Given the description of an element on the screen output the (x, y) to click on. 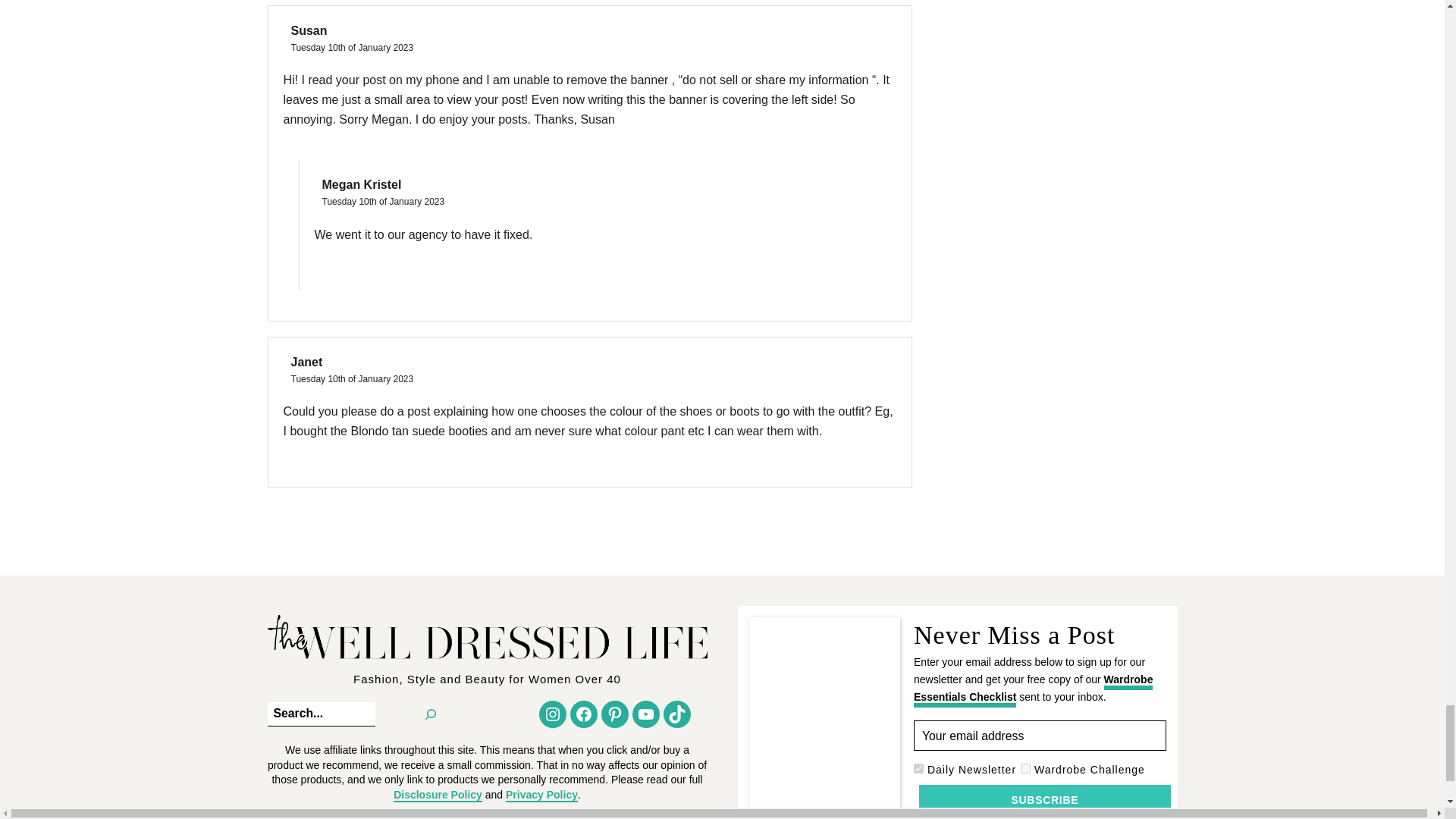
603d70c014 (918, 768)
1dc51eb203 (1025, 768)
Subscribe (1044, 799)
